Given the description of an element on the screen output the (x, y) to click on. 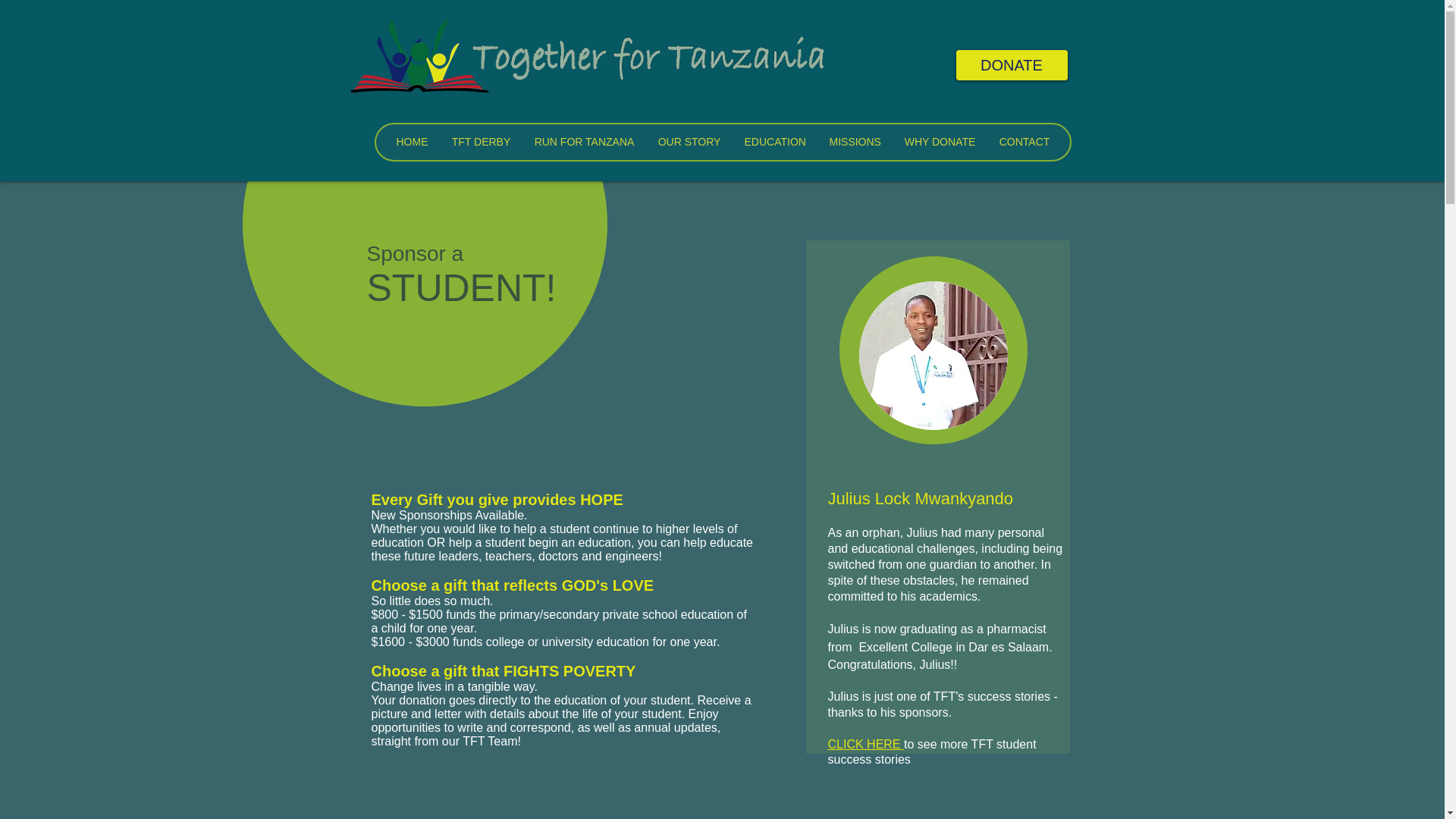
CONTACT (1024, 141)
HOME (411, 141)
WHY DONATE (939, 141)
TFT DERBY (480, 141)
DONATE (1011, 64)
OUR STORY (689, 141)
CLICK HERE (866, 744)
RUN FOR TANZANA (583, 141)
